Given the description of an element on the screen output the (x, y) to click on. 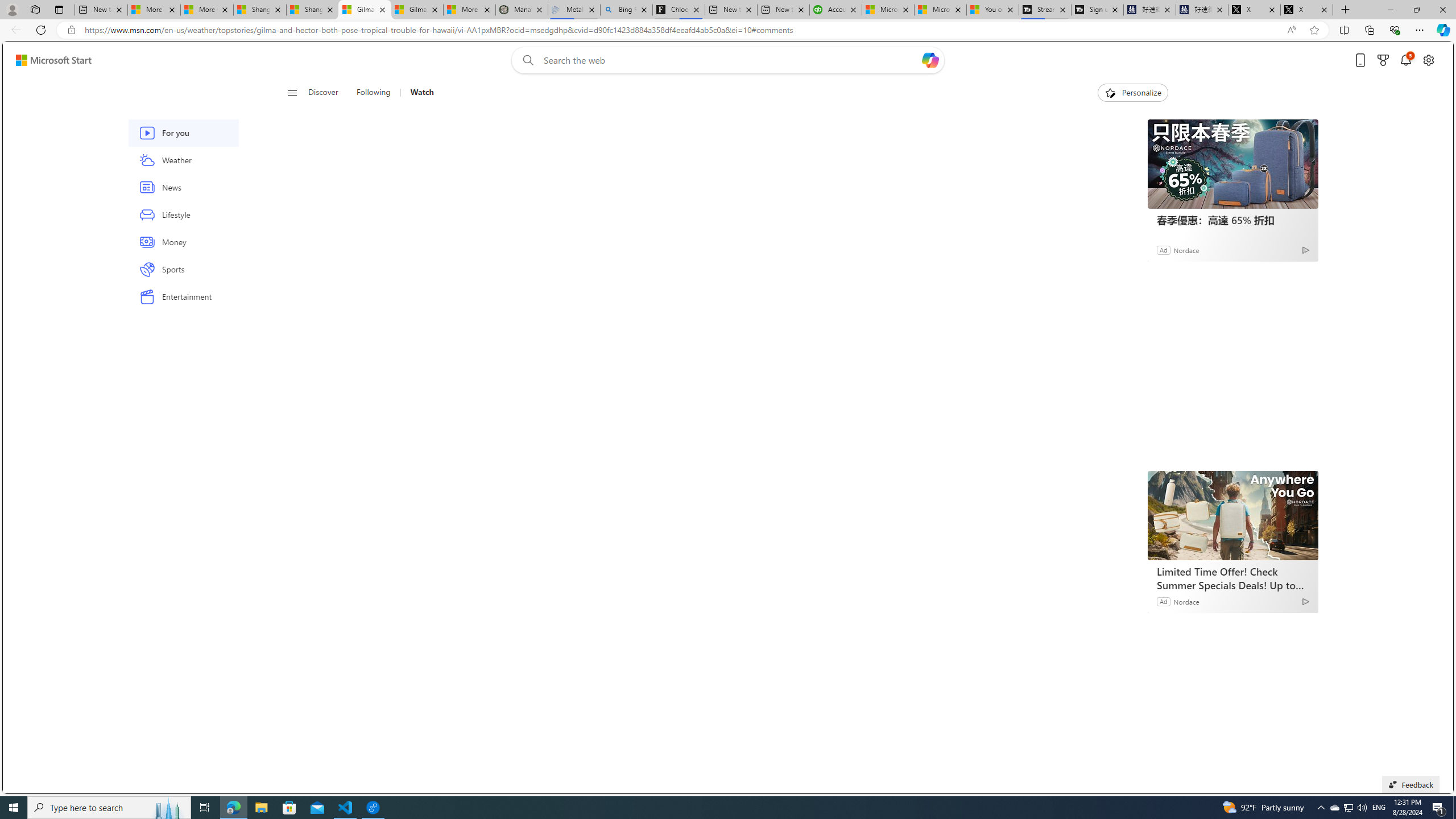
Discover (327, 92)
Chloe Sorvino (678, 9)
Limited Time Offer! Check Summer Specials Deals! Up to -55%! (1232, 578)
Open navigation menu (292, 92)
Class: button-glyph (292, 92)
Following (373, 92)
Ad Choice (1305, 601)
Ad (1162, 601)
Notifications (1405, 60)
